Given the description of an element on the screen output the (x, y) to click on. 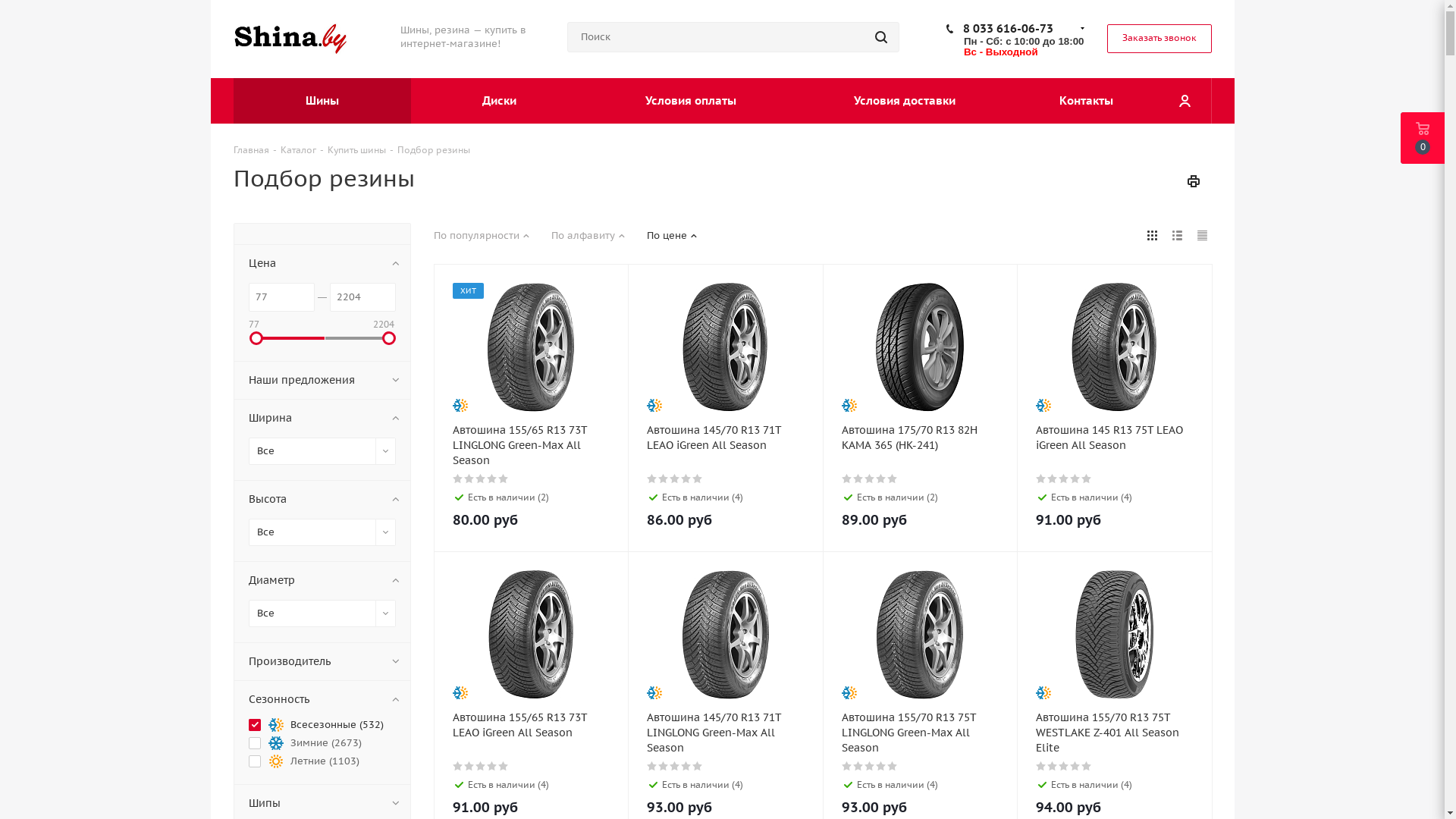
5 Element type: hover (502, 478)
4 Element type: hover (1075, 766)
4 Element type: hover (686, 478)
5 Element type: hover (502, 766)
5 Element type: hover (892, 766)
5 Element type: hover (892, 478)
2 Element type: hover (663, 478)
2 Element type: hover (857, 766)
5 Element type: hover (697, 766)
4 Element type: hover (880, 478)
1 Element type: hover (652, 478)
5 Element type: hover (1086, 766)
8 033 616-06-73 Element type: text (1008, 28)
3 Element type: hover (869, 478)
5 Element type: hover (697, 478)
2 Element type: hover (1052, 478)
1 Element type: hover (1041, 478)
1 Element type: hover (1041, 766)
2 Element type: hover (1052, 766)
1 Element type: hover (457, 766)
2 Element type: hover (663, 766)
1 Element type: hover (457, 478)
2 Element type: hover (857, 478)
4 Element type: hover (1075, 478)
4 Element type: hover (686, 766)
Y Element type: text (4, 4)
5 Element type: hover (1086, 478)
1 Element type: hover (652, 766)
3 Element type: hover (674, 478)
3 Element type: hover (1064, 766)
3 Element type: hover (1064, 478)
1 Element type: hover (847, 766)
3 Element type: hover (480, 478)
3 Element type: hover (869, 766)
3 Element type: hover (480, 766)
1 Element type: hover (847, 478)
4 Element type: hover (492, 766)
2 Element type: hover (469, 766)
2 Element type: hover (469, 478)
4 Element type: hover (880, 766)
3 Element type: hover (674, 766)
4 Element type: hover (492, 478)
